Given the description of an element on the screen output the (x, y) to click on. 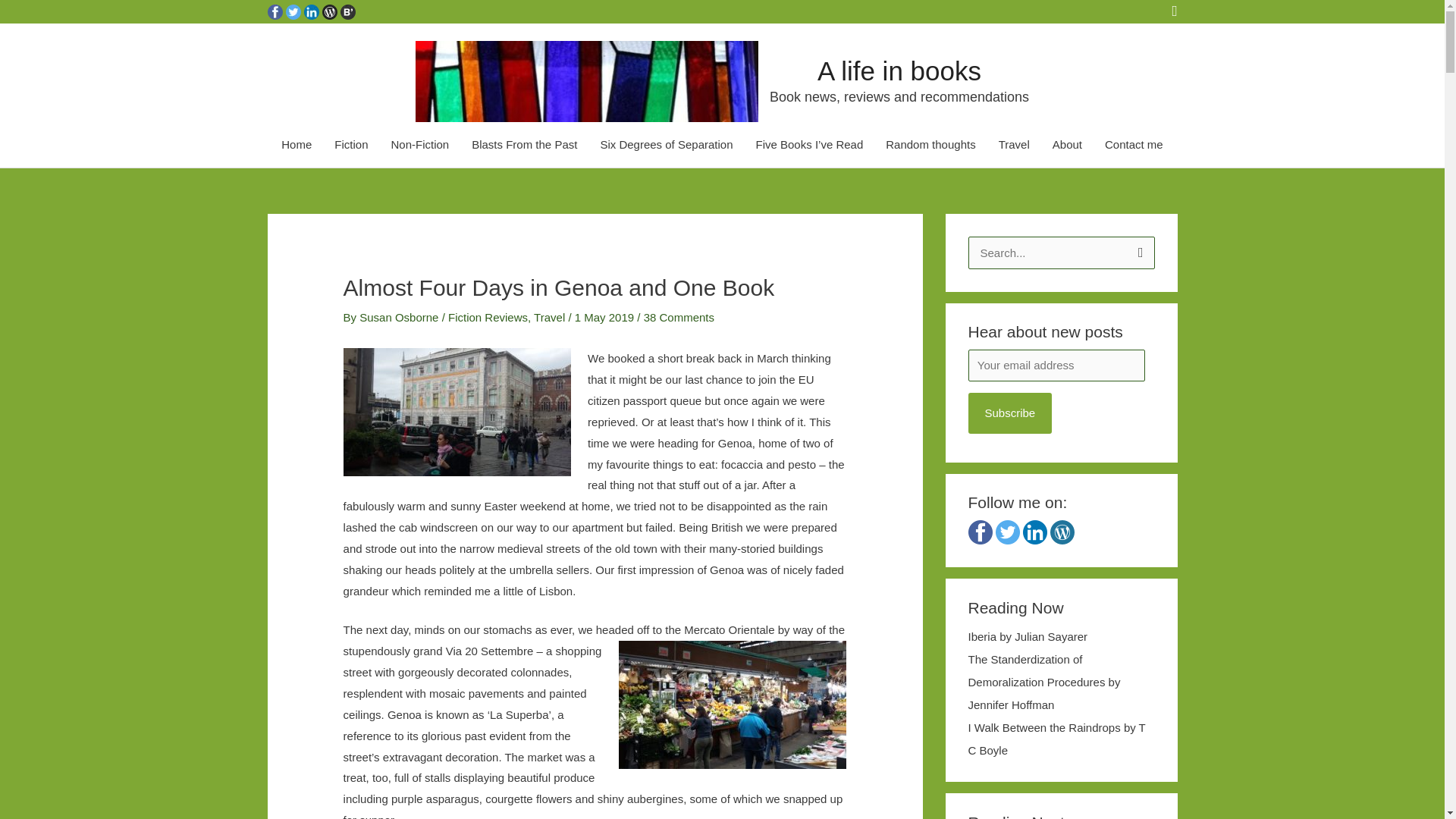
Travel (549, 317)
About (1067, 144)
View all posts by Susan Osborne (400, 317)
Susan Osborne (400, 317)
Search (1137, 251)
Search (1137, 251)
Six Degrees of Separation (666, 144)
Fiction Reviews (487, 317)
Non-Fiction (419, 144)
Fiction (350, 144)
Random thoughts (931, 144)
A life in books (898, 70)
38 Comments (678, 317)
Follow Me on LinkedIn (311, 10)
Follow Me on Wordpress.com (329, 10)
